Given the description of an element on the screen output the (x, y) to click on. 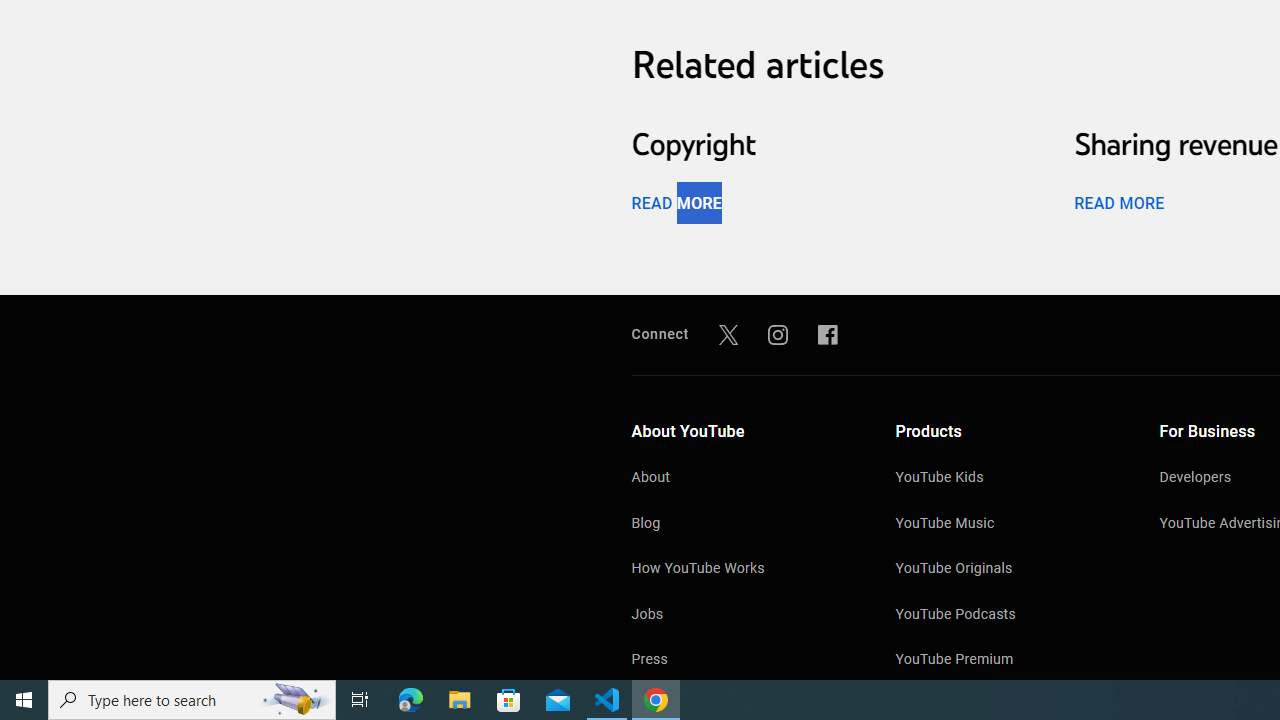
About (743, 479)
Instagram (778, 334)
Blog (743, 524)
READ MORE (1118, 202)
YouTube Premium (1007, 660)
Jobs (743, 616)
YouTube Podcasts (1007, 616)
YouTube Kids (1007, 479)
Facebook (828, 334)
How YouTube Works (743, 570)
Press (743, 660)
YouTube Music (1007, 524)
Twitter (728, 334)
YouTube Originals (1007, 570)
